Given the description of an element on the screen output the (x, y) to click on. 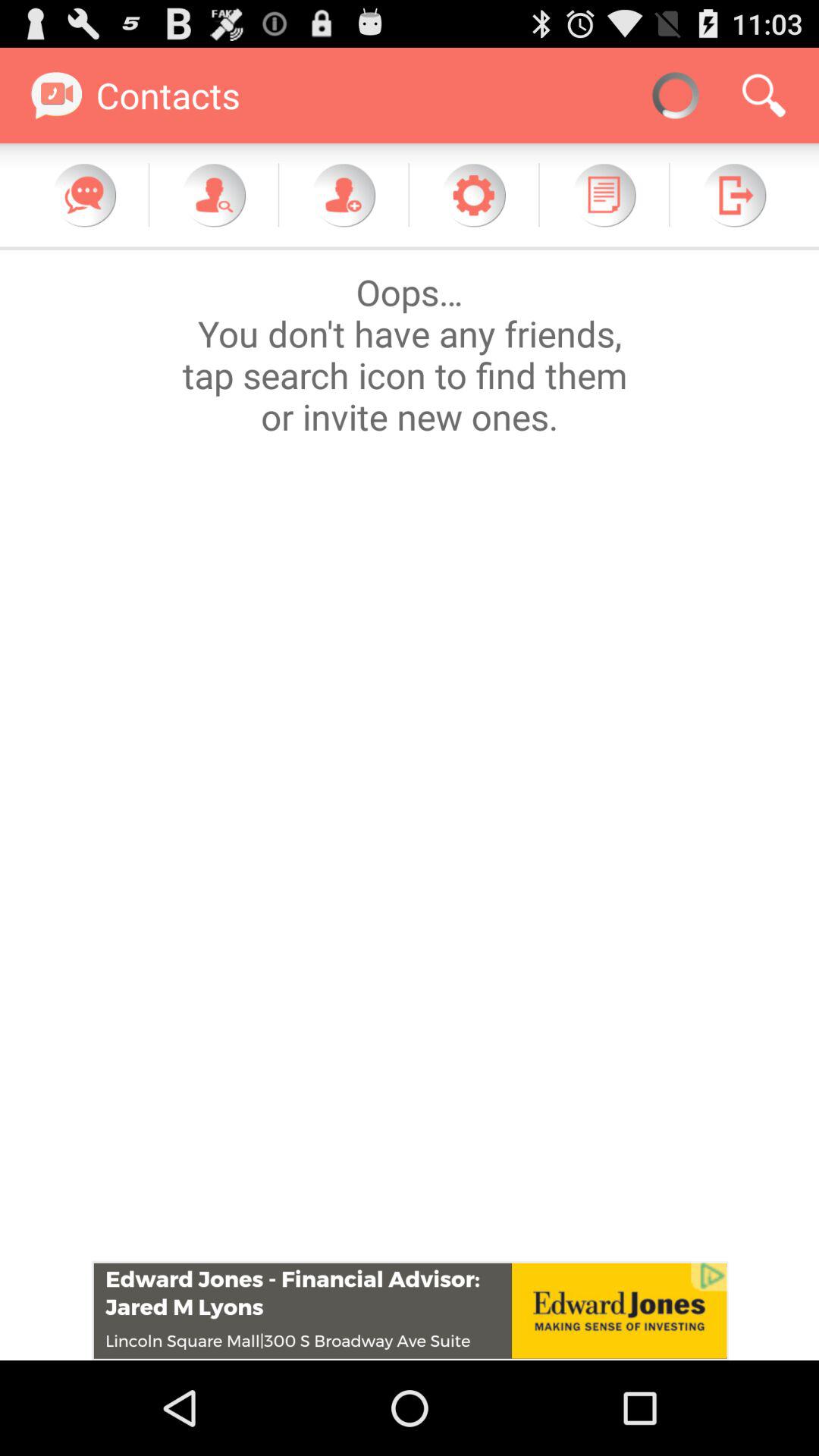
connect to link (409, 1310)
